Given the description of an element on the screen output the (x, y) to click on. 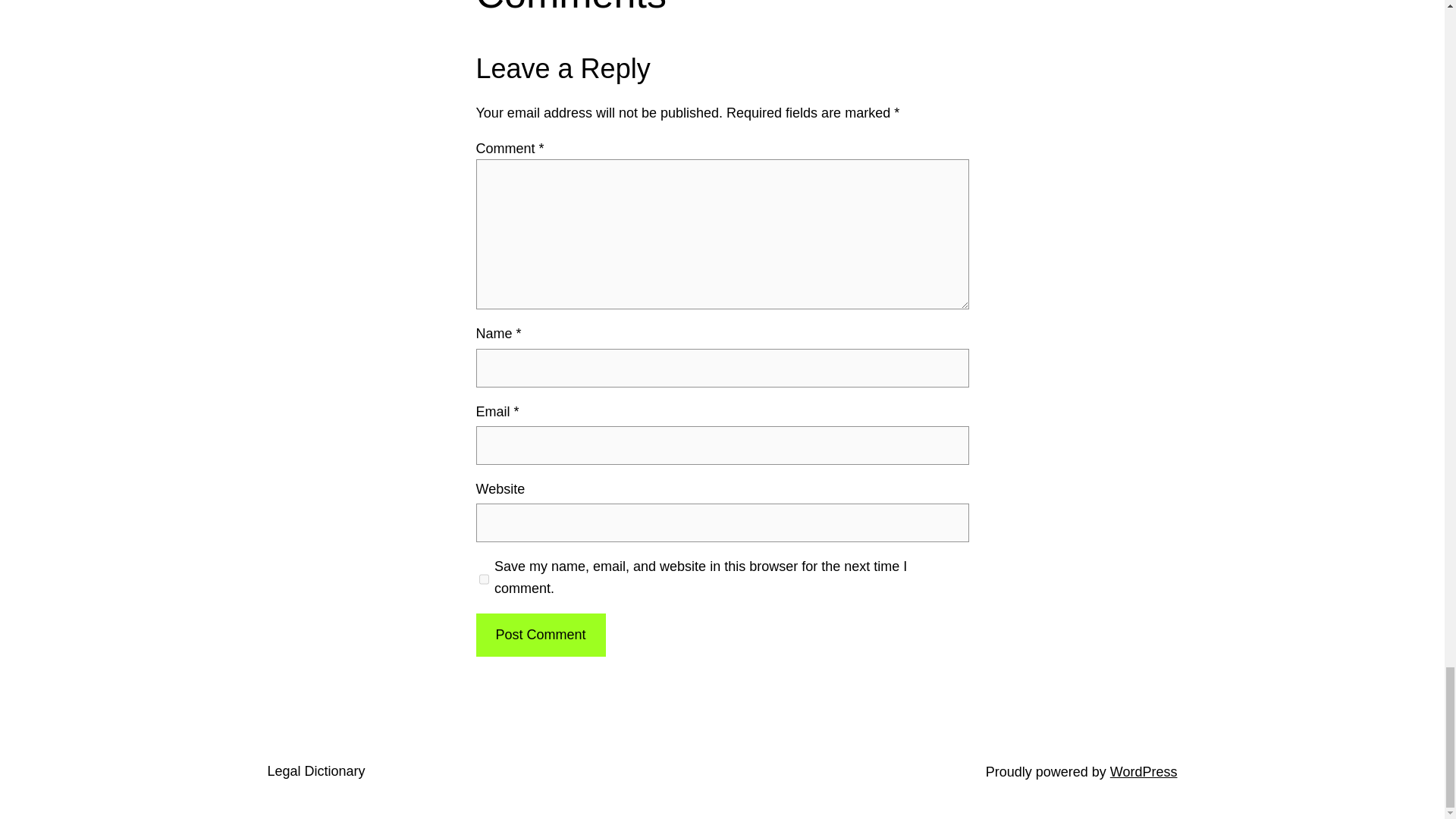
Post Comment (540, 634)
